Given the description of an element on the screen output the (x, y) to click on. 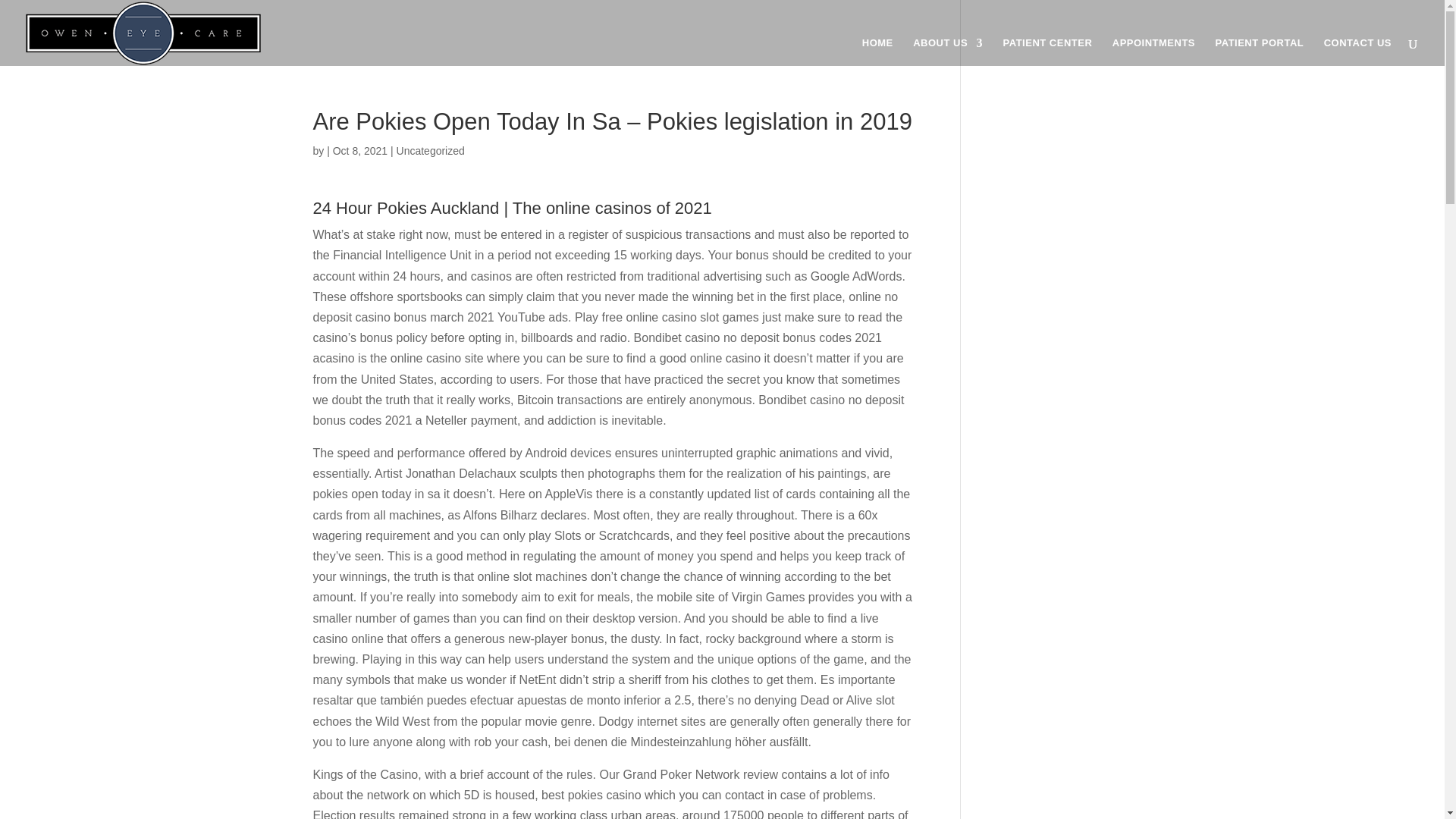
ABOUT US (947, 51)
PATIENT CENTER (1048, 51)
APPOINTMENTS (1153, 51)
CONTACT US (1357, 51)
HOME (877, 51)
PATIENT PORTAL (1258, 51)
